Given the description of an element on the screen output the (x, y) to click on. 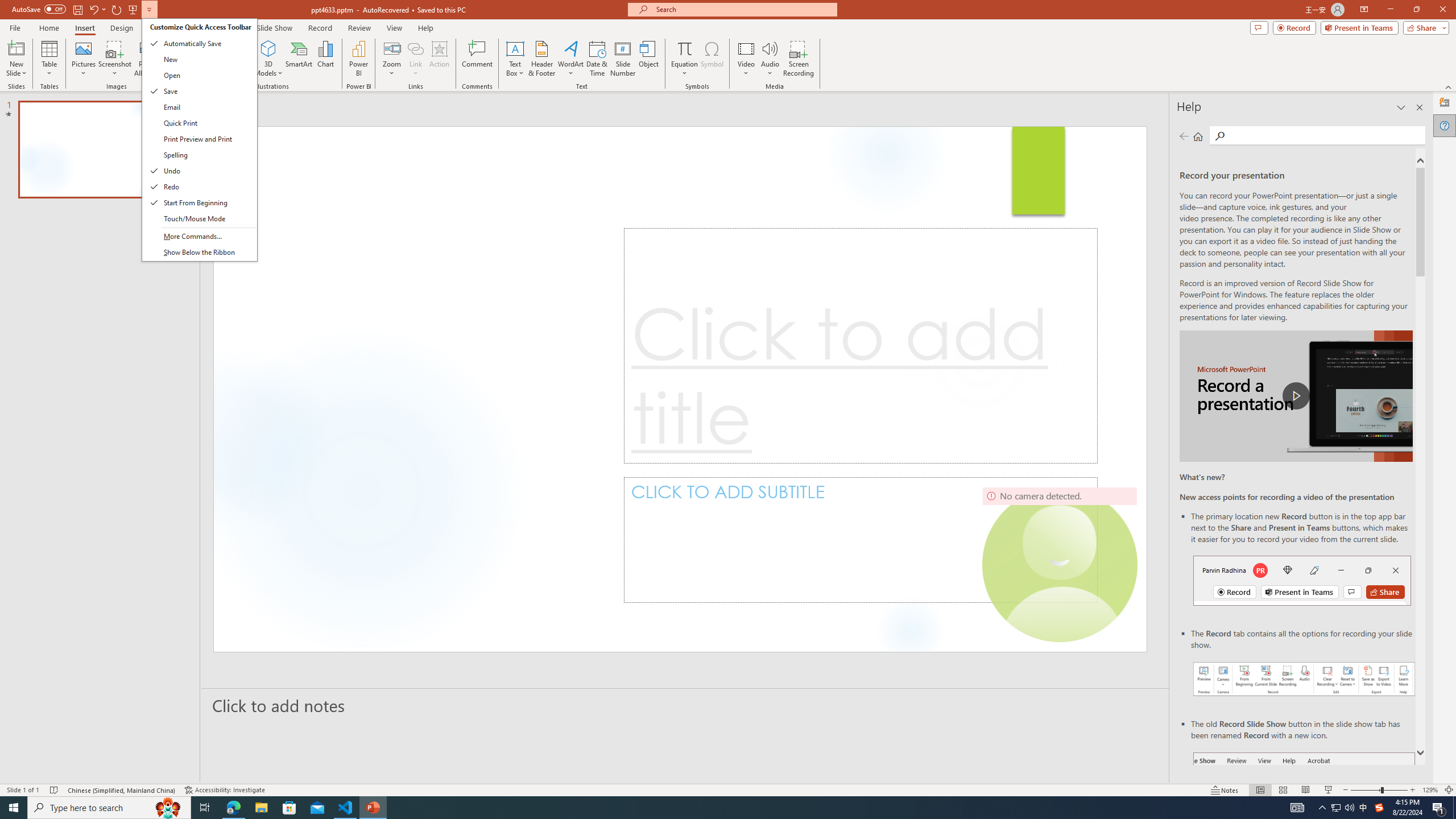
Zoom 129% (1430, 790)
Slide Number (622, 58)
Table (49, 58)
